Given the description of an element on the screen output the (x, y) to click on. 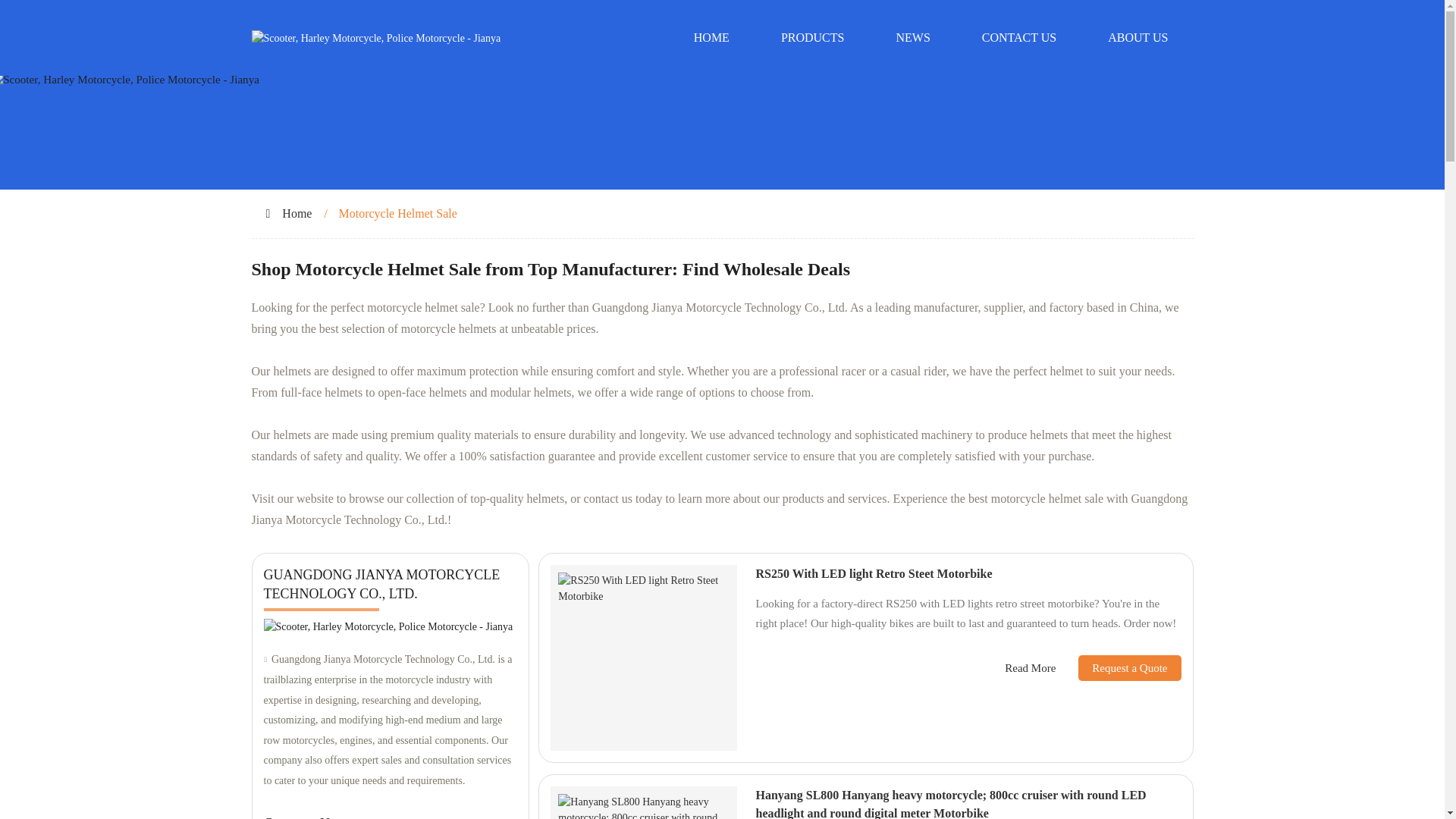
Request a Quote (1117, 667)
PRODUCTS (812, 38)
CONTACT US (1018, 38)
Read More (1029, 668)
Home (296, 213)
RS250 With LED light Retro Steet Motorbike (873, 573)
